Given the description of an element on the screen output the (x, y) to click on. 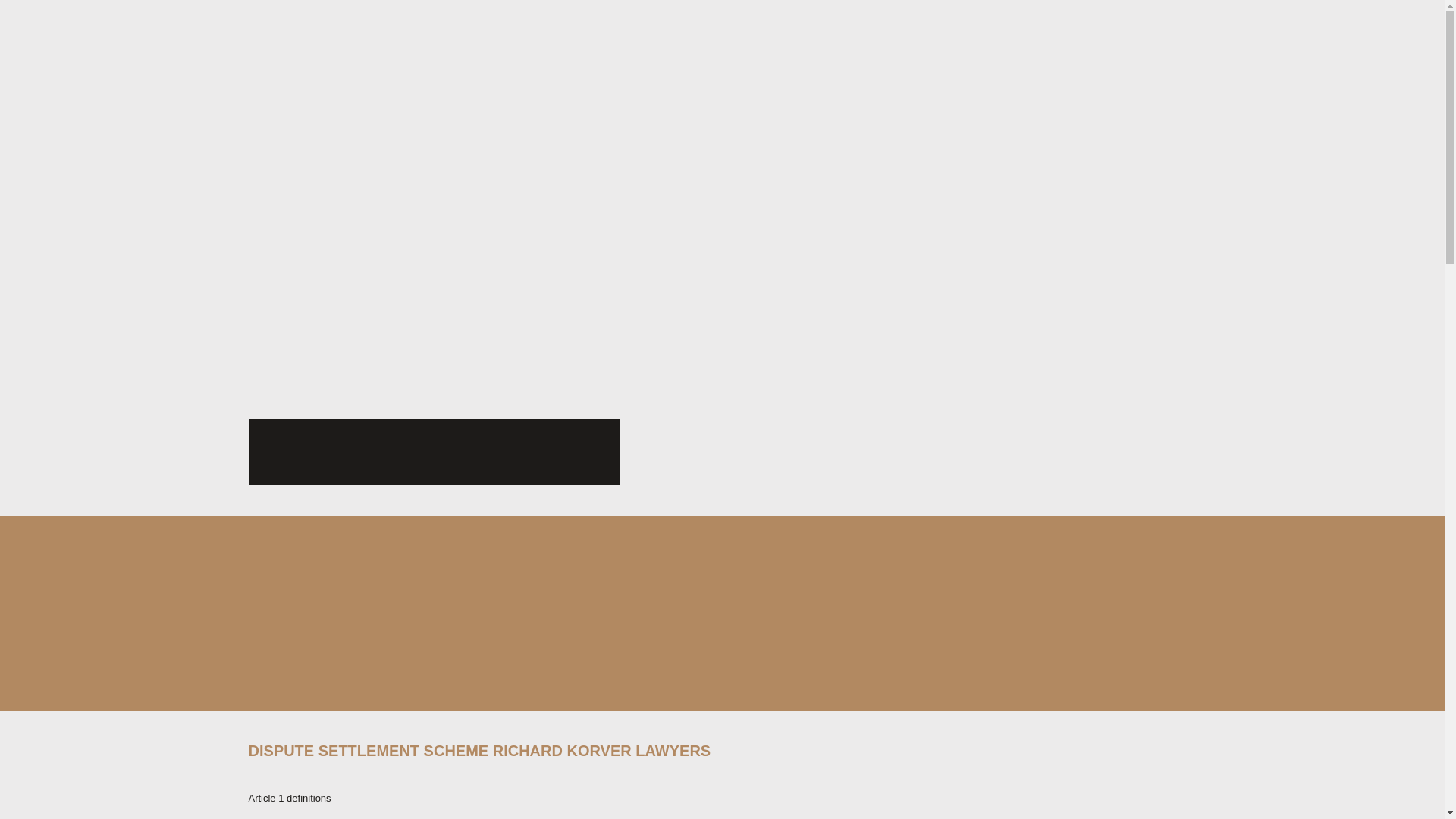
Pinterest (360, 451)
Facebook (285, 451)
Linkedin (583, 451)
Twitter (434, 451)
Google plus (508, 451)
